Given the description of an element on the screen output the (x, y) to click on. 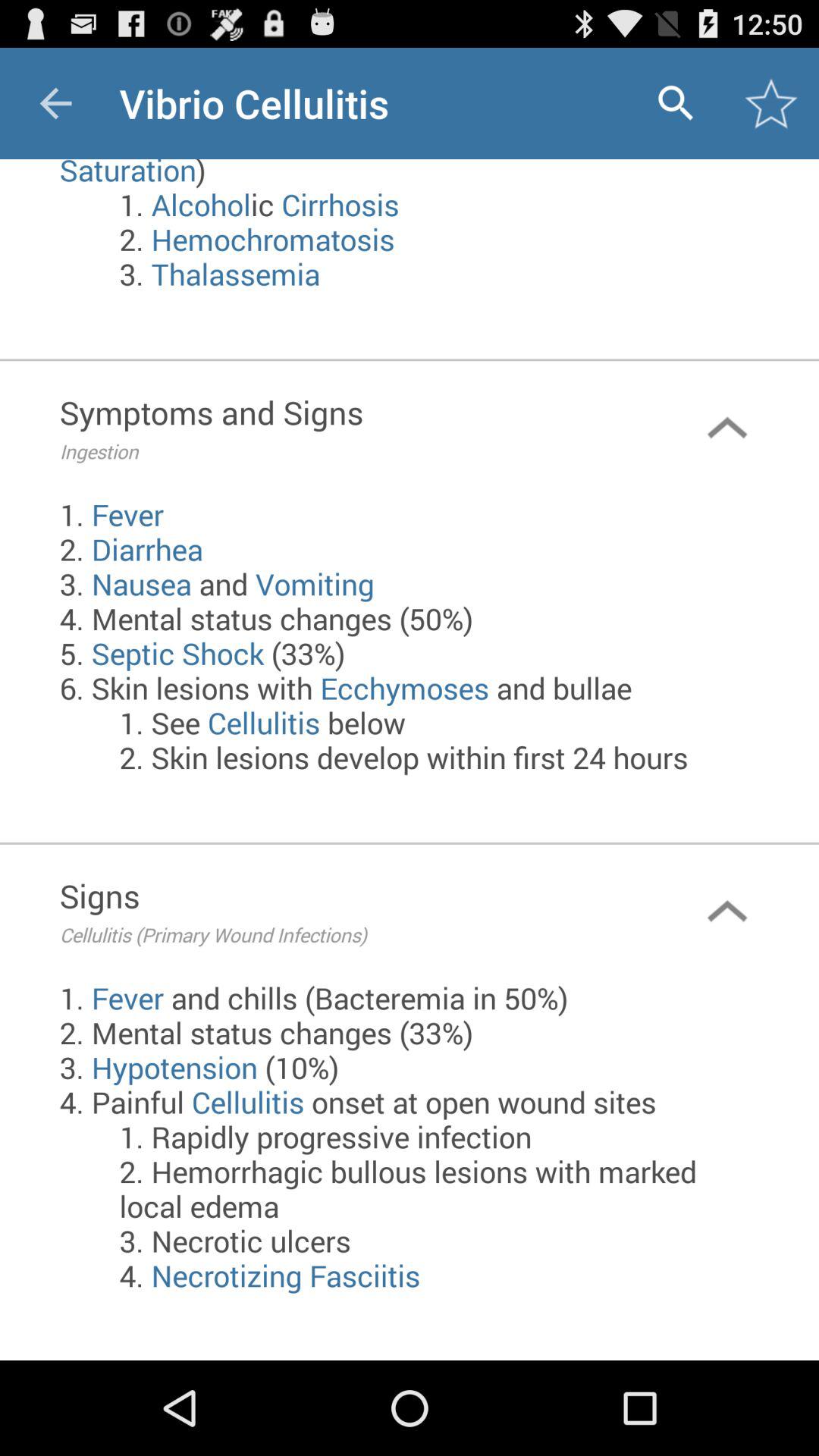
tap the symptoms and signs item (347, 427)
